Given the description of an element on the screen output the (x, y) to click on. 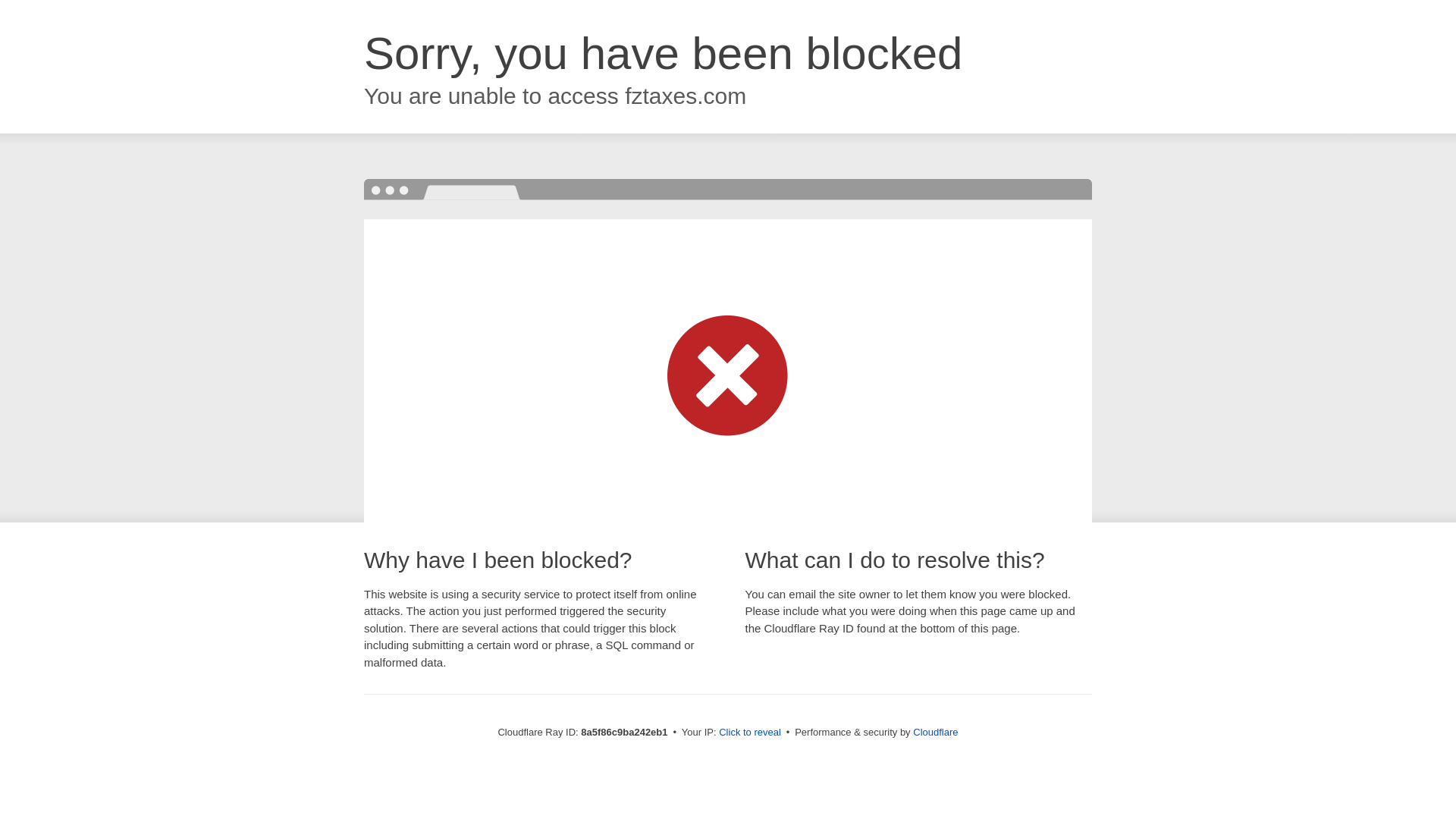
Cloudflare (935, 731)
Click to reveal (749, 732)
